Given the description of an element on the screen output the (x, y) to click on. 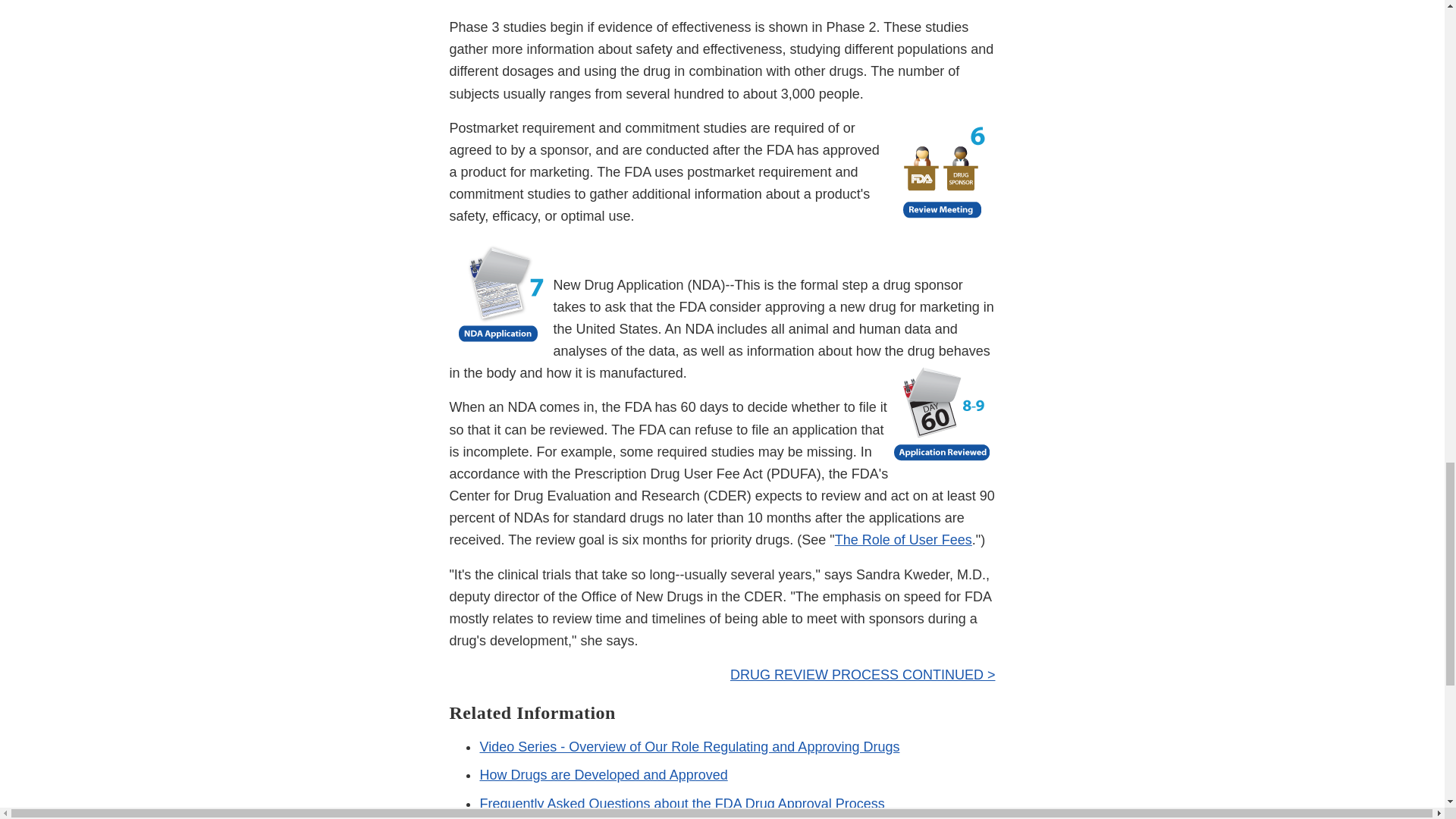
Application Reviewed Icon (942, 417)
How Drugs are Developed and Approved (602, 774)
NDA Application Icon (500, 294)
Review Meeting Icon (942, 172)
